Given the description of an element on the screen output the (x, y) to click on. 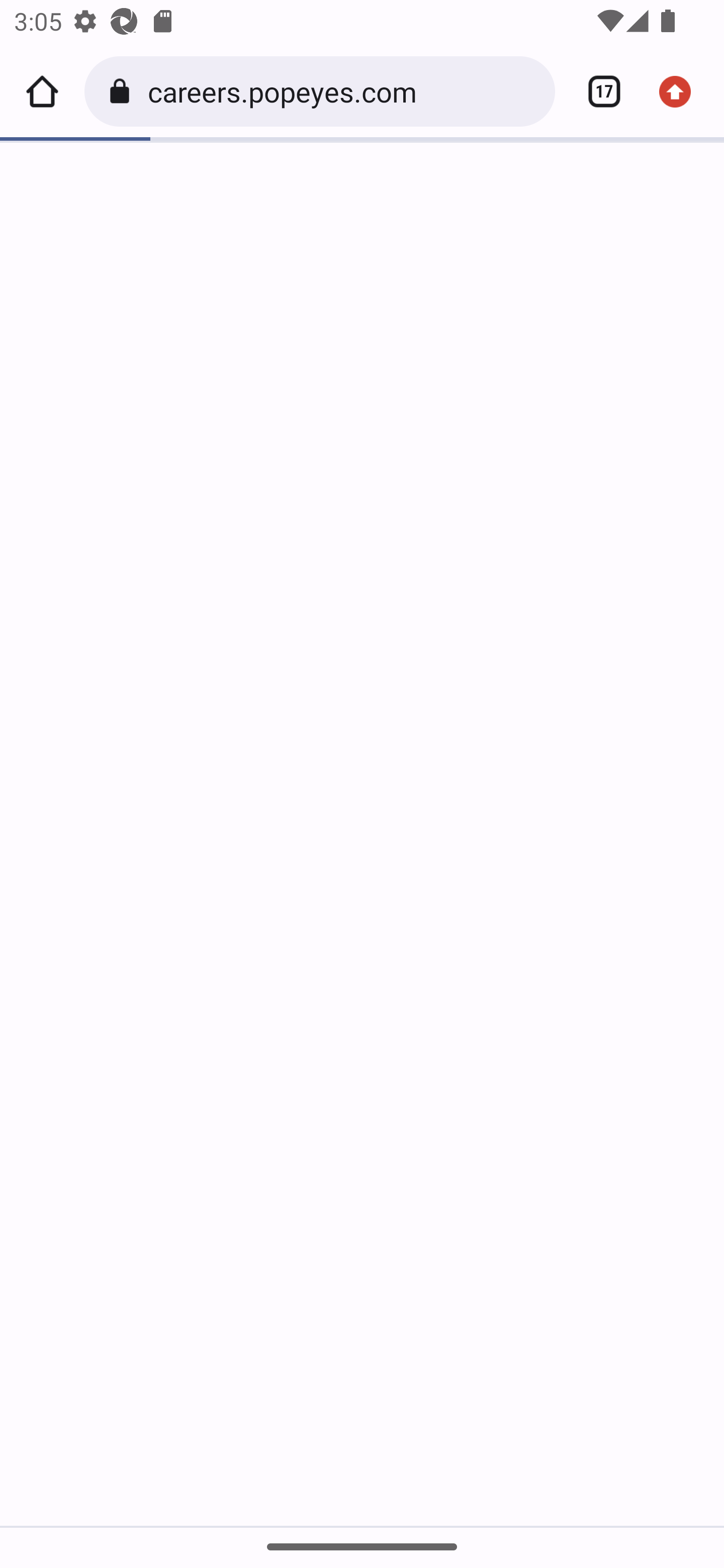
Home (42, 91)
Connection is secure (122, 91)
Switch or close tabs (597, 91)
Update available. More options (681, 91)
careers.popeyes.com (343, 90)
